Given the description of an element on the screen output the (x, y) to click on. 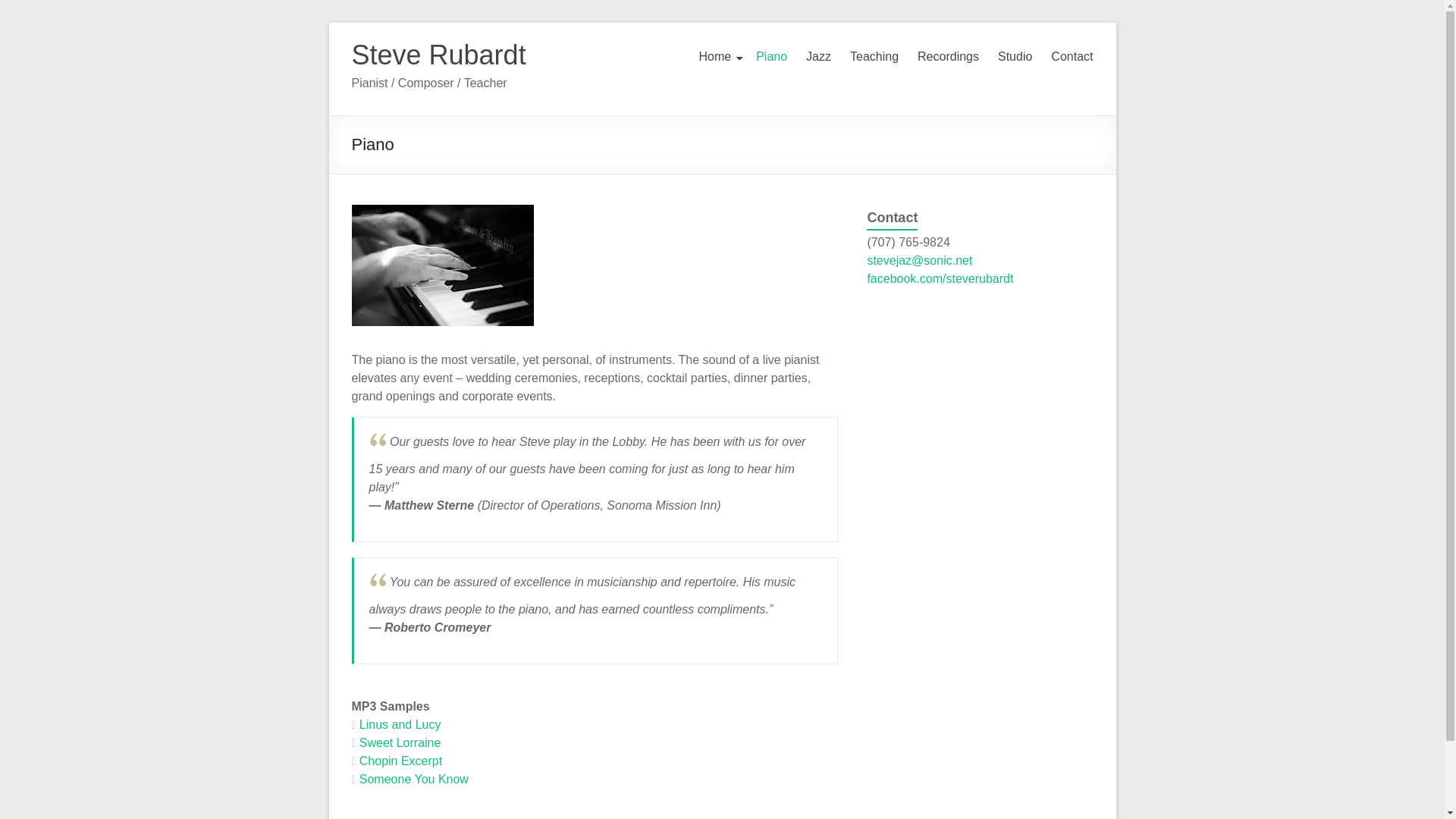
Jazz (818, 60)
wedding ceremonies (521, 377)
Someone You Know (410, 779)
Steve Rubardt (438, 54)
Contact (1072, 60)
Home (717, 60)
Sweet Lorraine (396, 742)
Chopin Excerpt (397, 760)
Studio (1014, 60)
Steve Rubardt (438, 54)
